Given the description of an element on the screen output the (x, y) to click on. 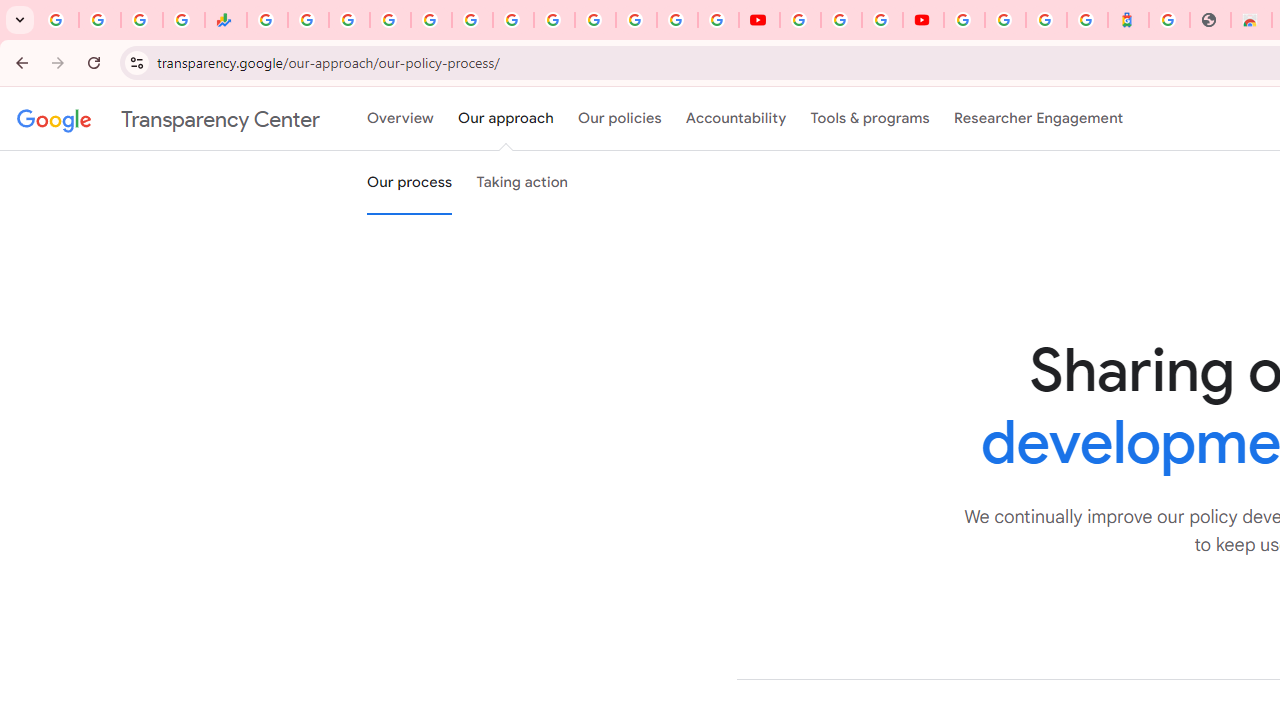
Sign in - Google Accounts (964, 20)
Create your Google Account (881, 20)
Google Workspace Admin Community (58, 20)
Android TV Policies and Guidelines - Transparency Center (512, 20)
Sign in - Google Accounts (676, 20)
Taking action (522, 183)
Sign in - Google Accounts (389, 20)
